Given the description of an element on the screen output the (x, y) to click on. 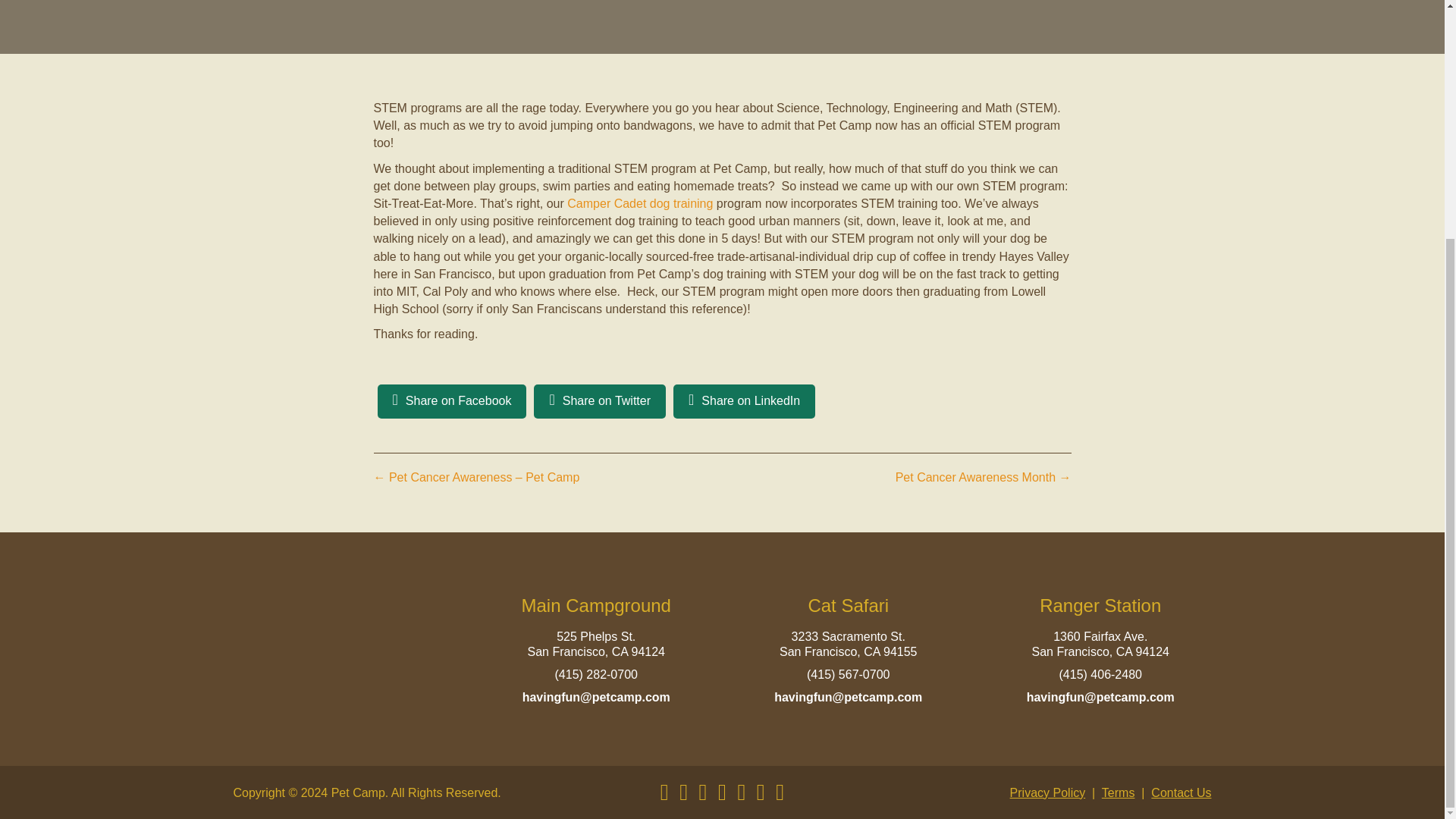
Ranger Station (1099, 605)
footer-logo (343, 653)
Main Campground (596, 605)
Cat Safari (848, 605)
